Given the description of an element on the screen output the (x, y) to click on. 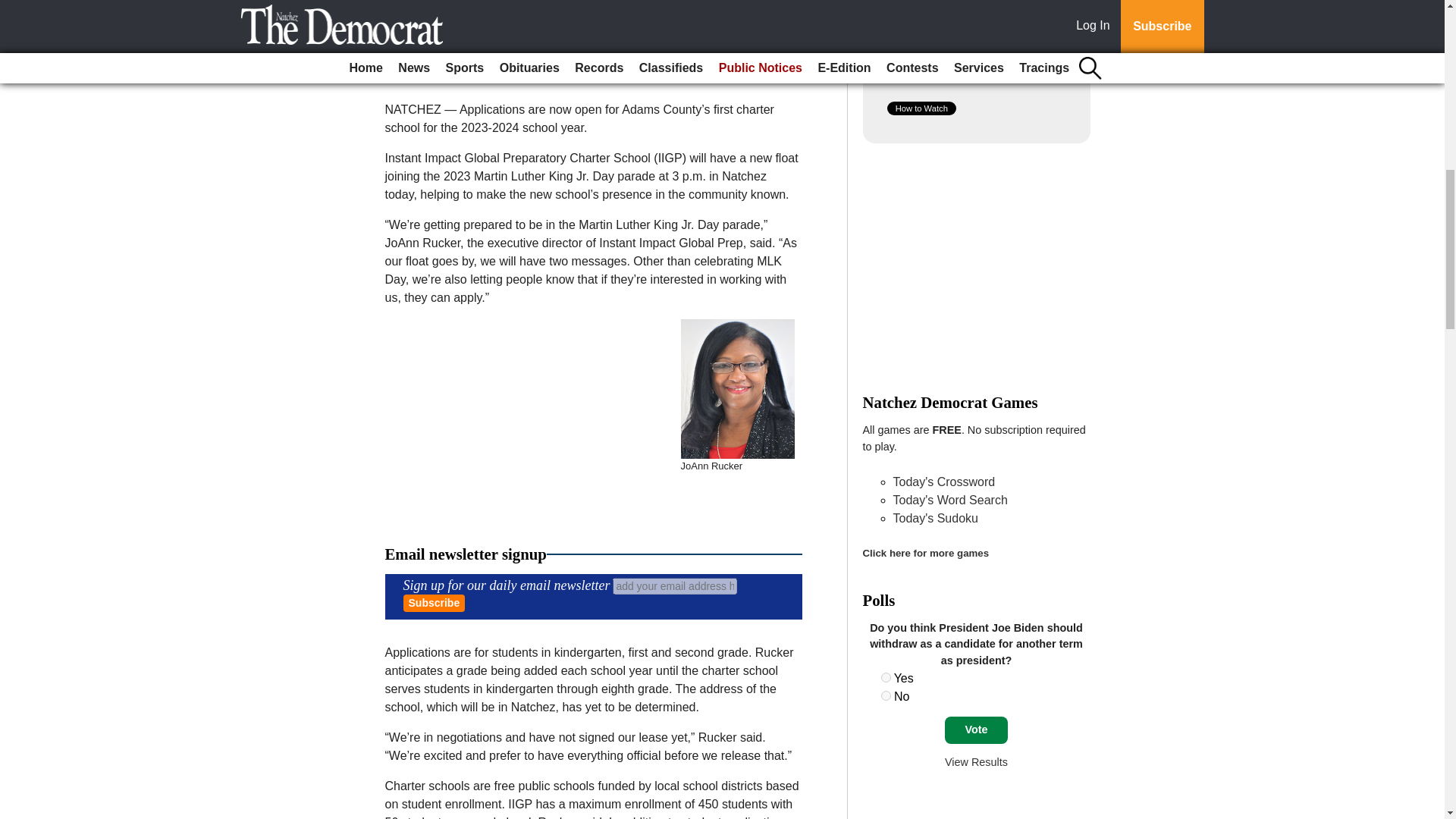
22423 (885, 677)
Subscribe (434, 602)
View Results Of This Poll (975, 761)
   Vote    (975, 729)
Trinity Audio Player (592, 33)
22424 (885, 696)
Subscribe (434, 602)
